Given the description of an element on the screen output the (x, y) to click on. 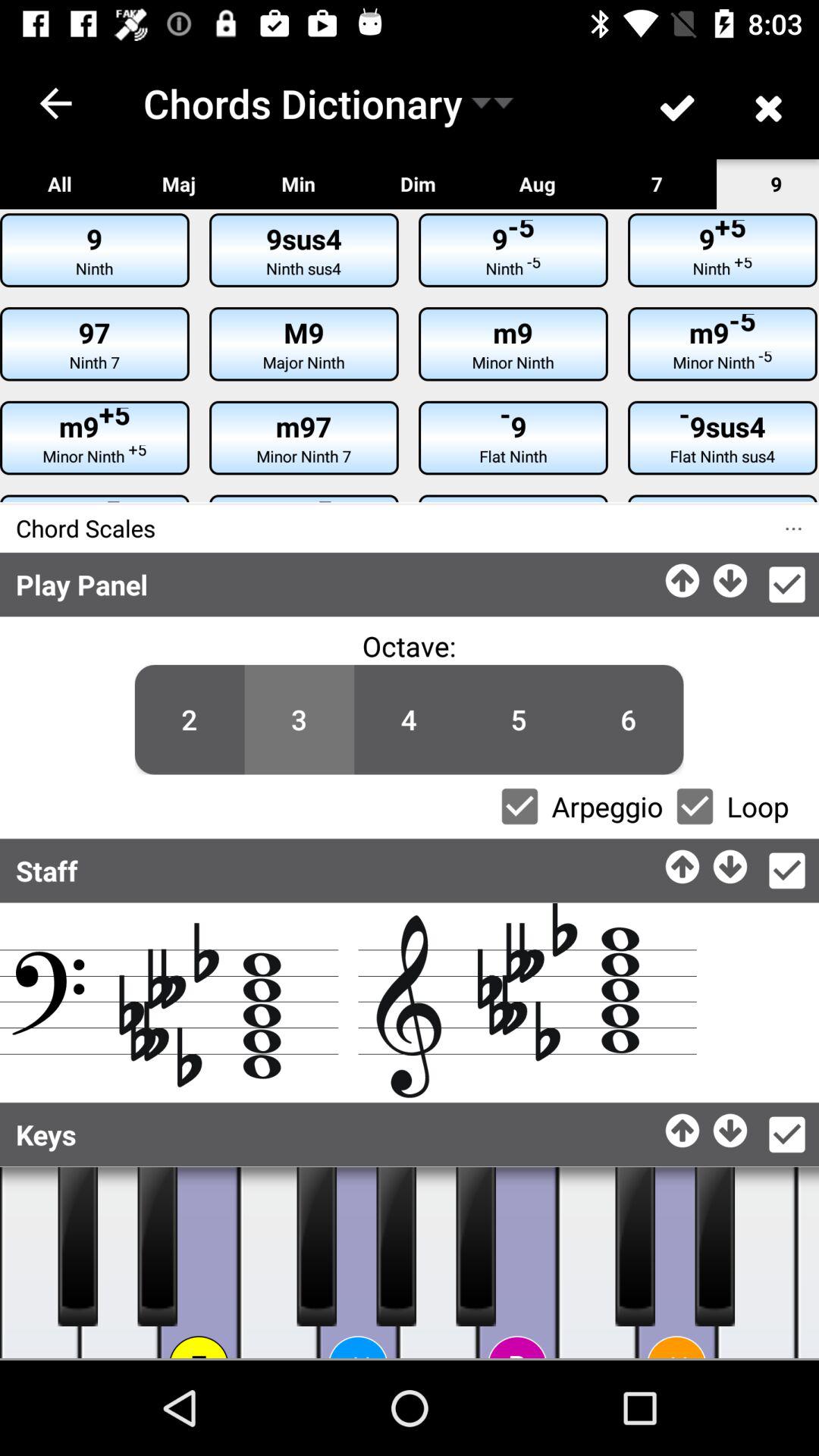
music key (756, 1262)
